Given the description of an element on the screen output the (x, y) to click on. 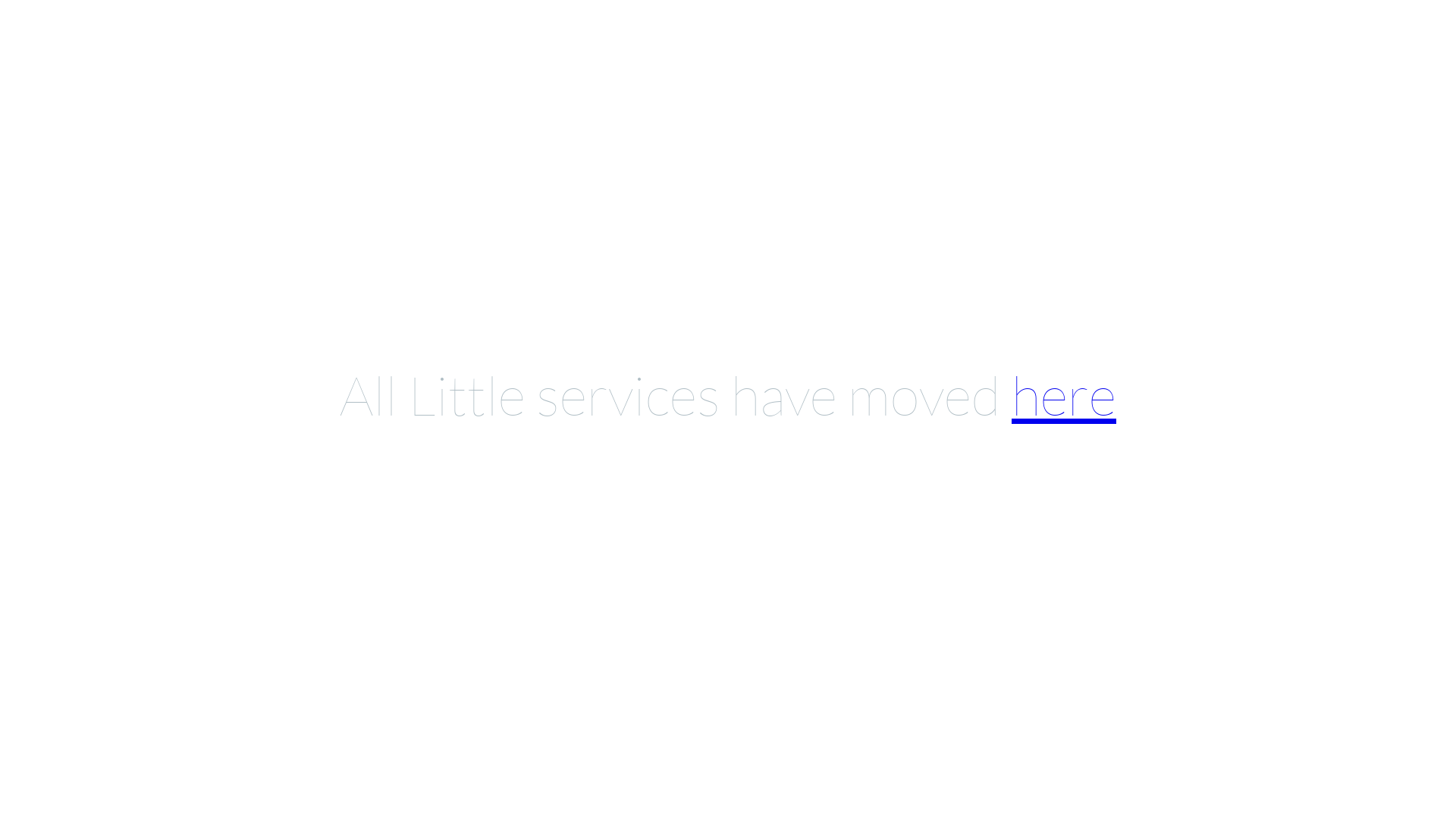
here Element type: text (1063, 393)
